Given the description of an element on the screen output the (x, y) to click on. 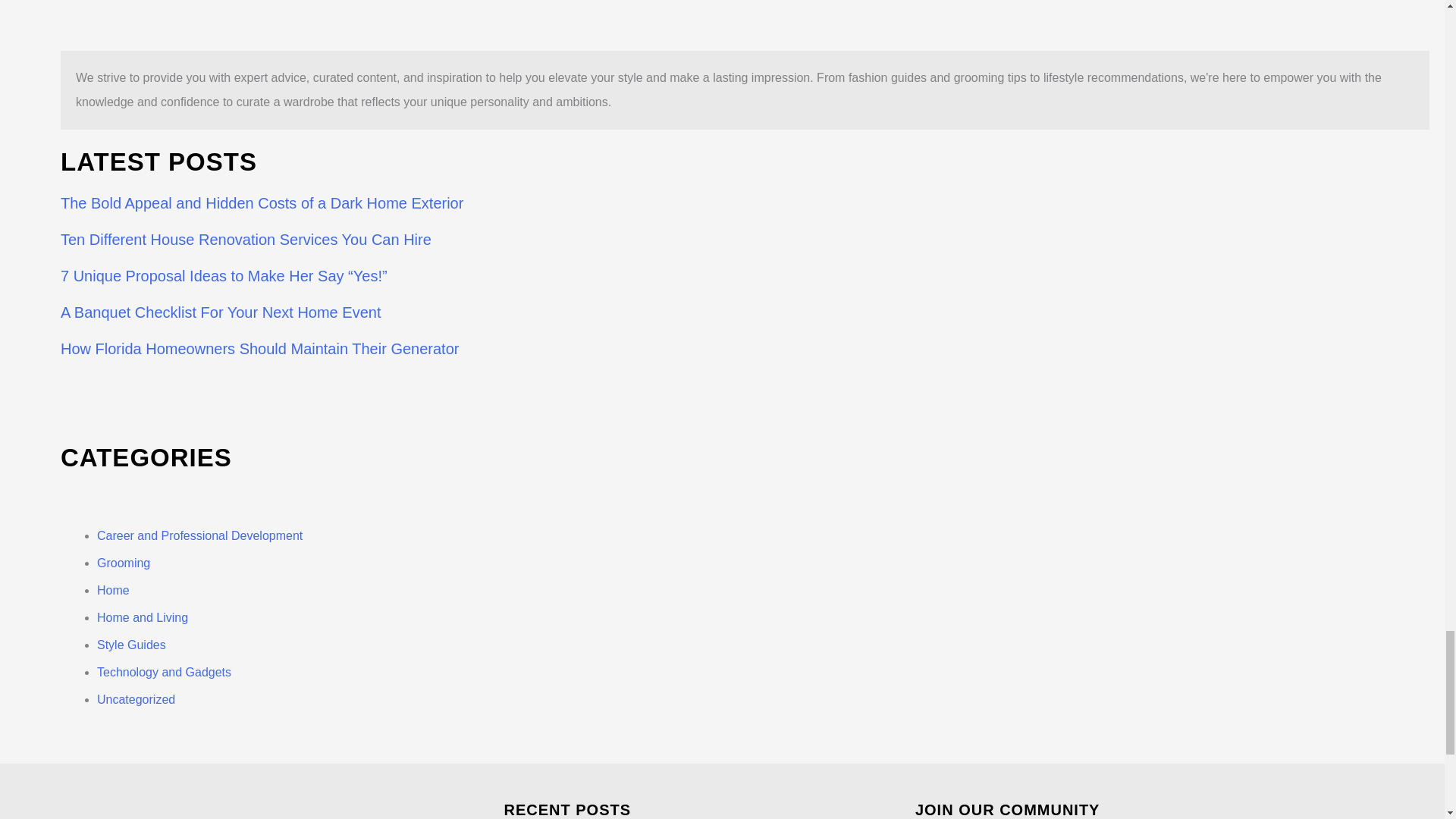
The Bold Appeal and Hidden Costs of a Dark Home Exterior (262, 202)
A Banquet Checklist For Your Next Home Event (220, 312)
Ten Different House Renovation Services You Can Hire (245, 239)
